Given the description of an element on the screen output the (x, y) to click on. 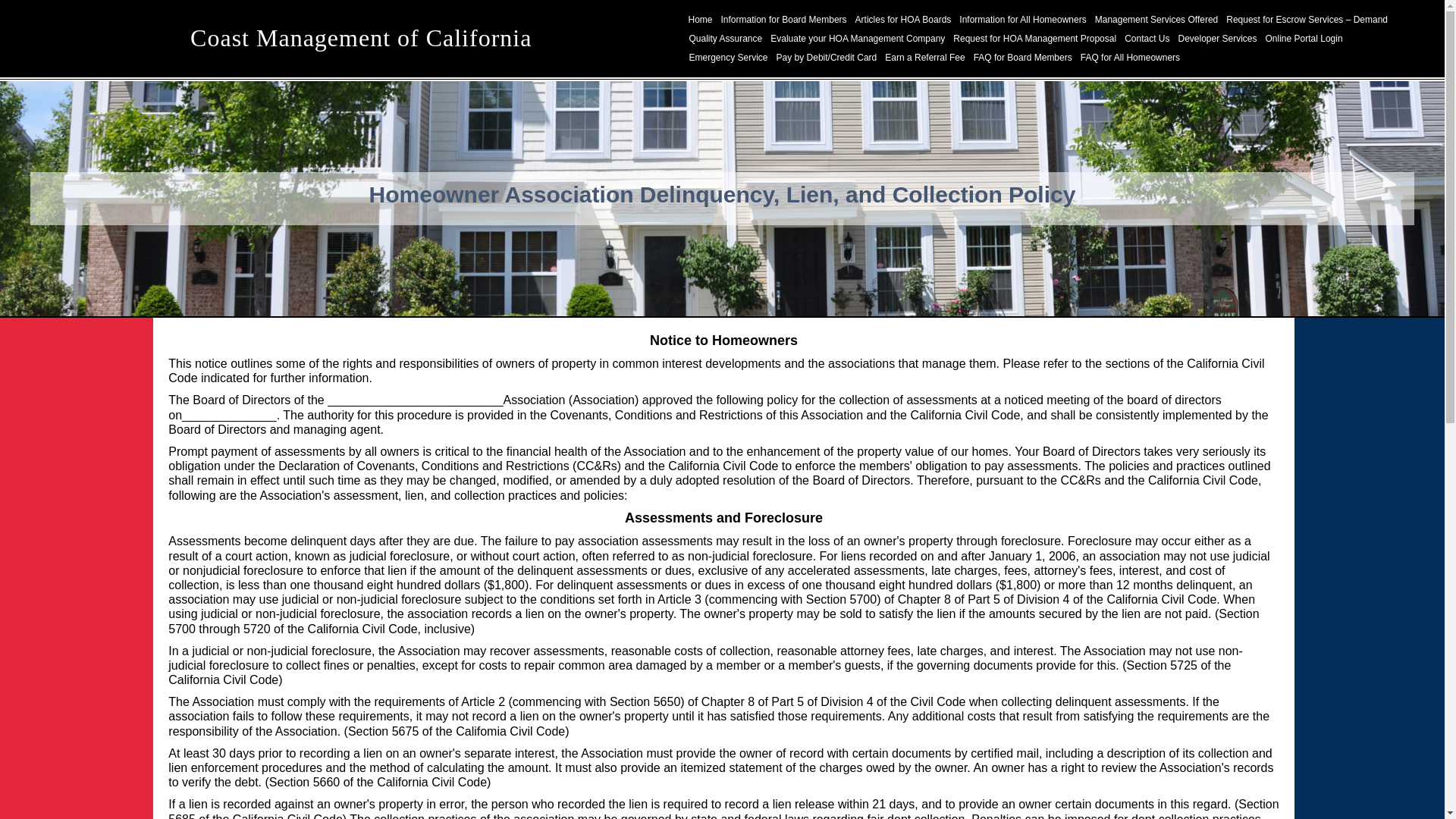
FAQ for Board Members (1022, 57)
FAQ for All Homeowners (1130, 57)
Quality Assurance (726, 37)
Earn a Referral Fee (924, 57)
Information for All Homeowners (1022, 19)
Contact Us (1147, 37)
Information for Board Members (783, 19)
Emergency Service (728, 57)
Evaluate your HOA Management Company (858, 37)
Online Portal Login (1304, 37)
Developer Services (1216, 37)
Home (700, 19)
Request for HOA Management Proposal (1034, 37)
Management Services Offered (1156, 19)
Articles for HOA Boards (903, 19)
